Given the description of an element on the screen output the (x, y) to click on. 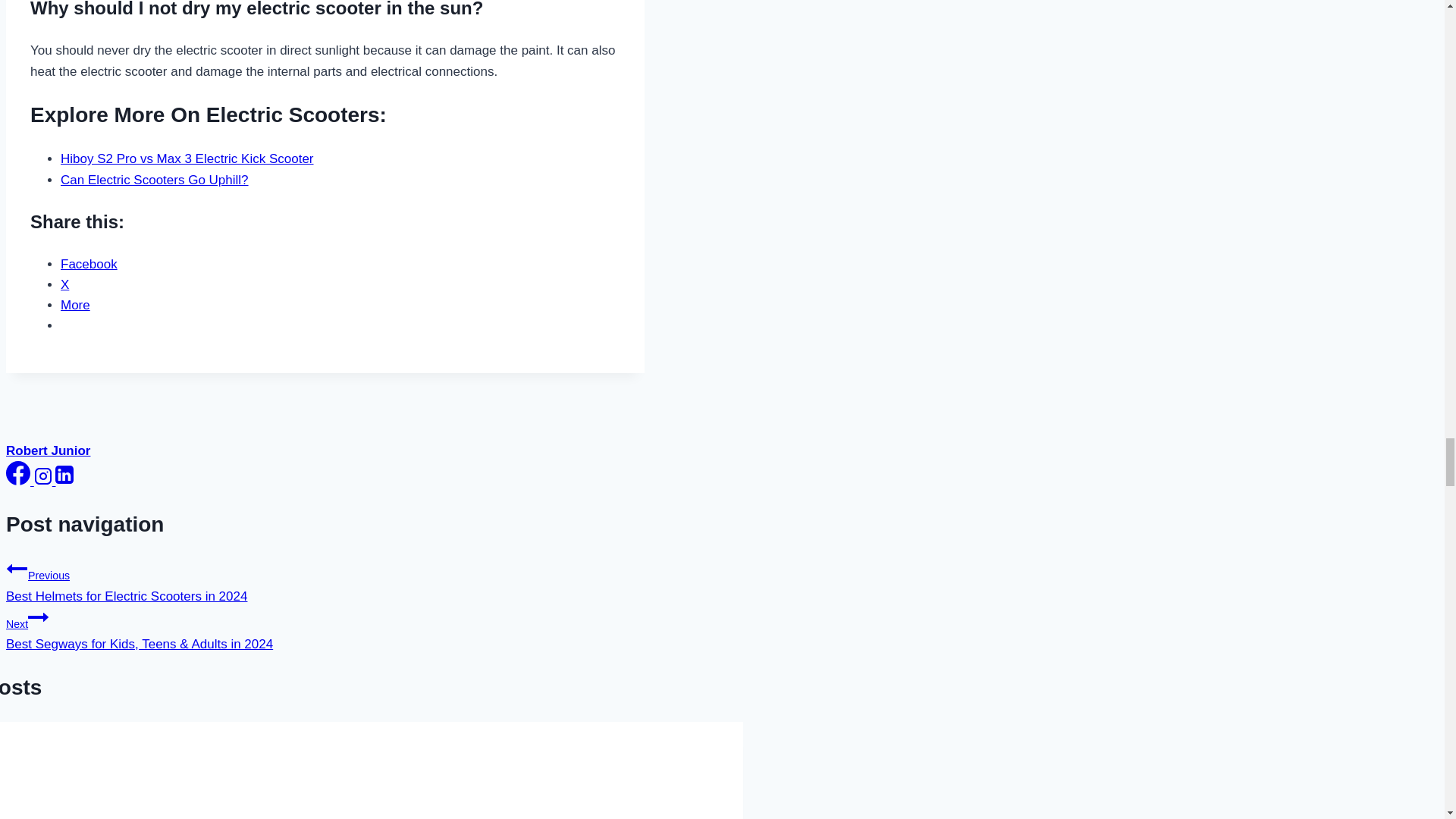
Linkedin (64, 474)
Facebook (17, 473)
Previous (16, 568)
Click to share on Facebook (89, 264)
Click to share on X (64, 284)
Follow Robert Junior on Linkedin (64, 481)
Continue (37, 617)
Follow Robert Junior on Instagram (44, 481)
Follow Robert Junior on Facebook (19, 481)
Instagram (42, 475)
Posts by Robert Junior (47, 450)
